Given the description of an element on the screen output the (x, y) to click on. 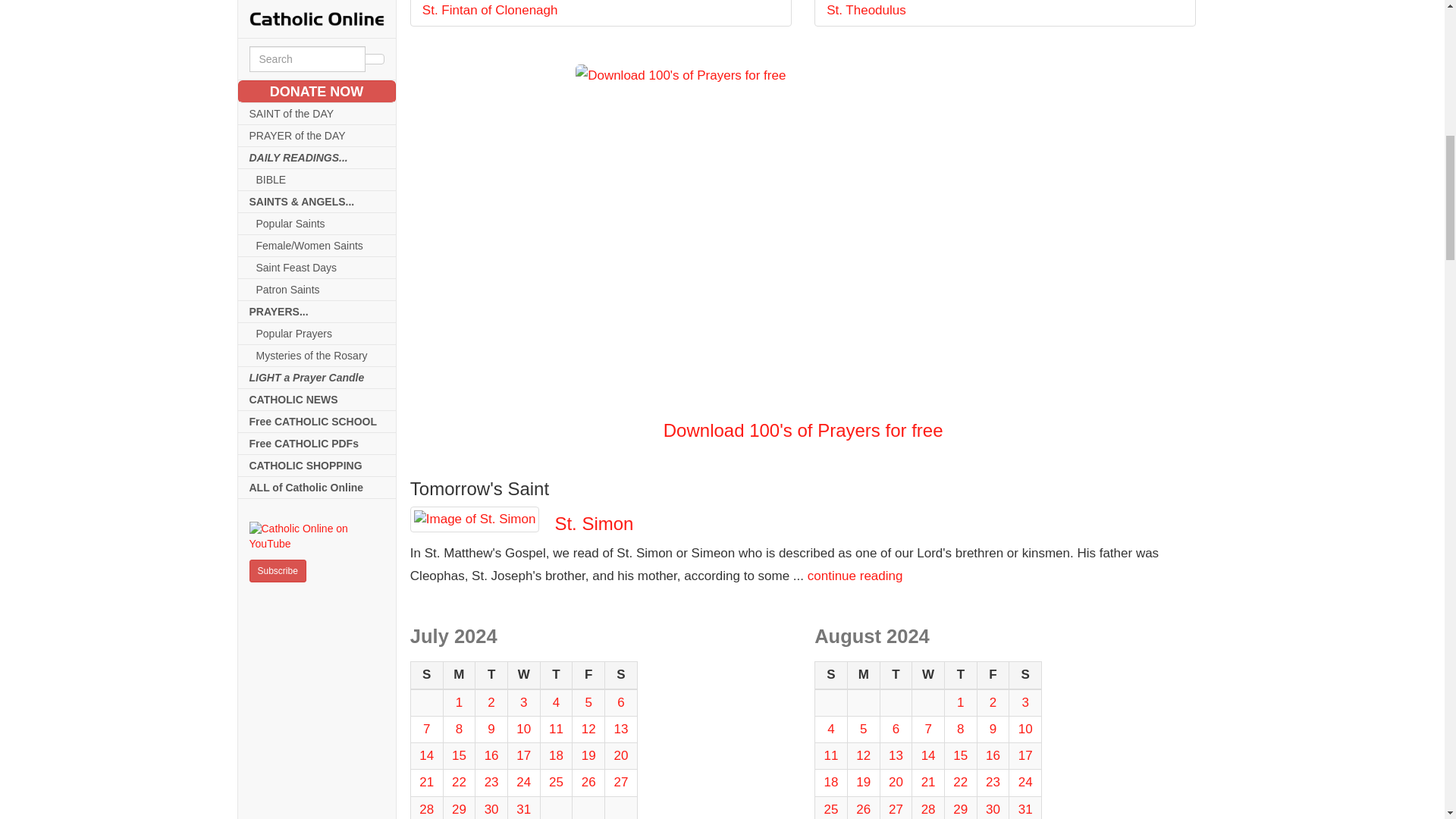
St. Simon (475, 519)
